Given the description of an element on the screen output the (x, y) to click on. 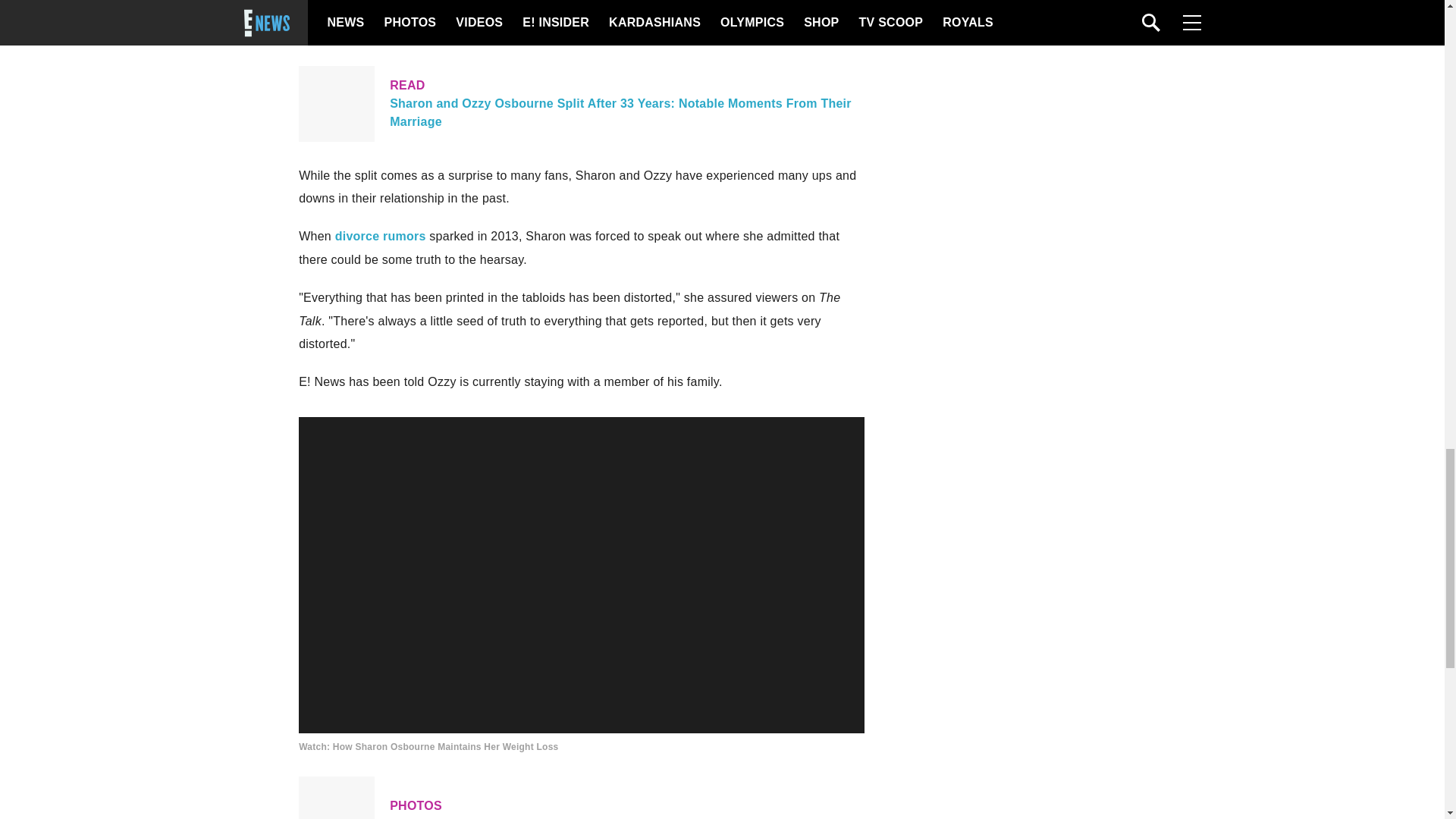
divorce rumors (380, 236)
